Given the description of an element on the screen output the (x, y) to click on. 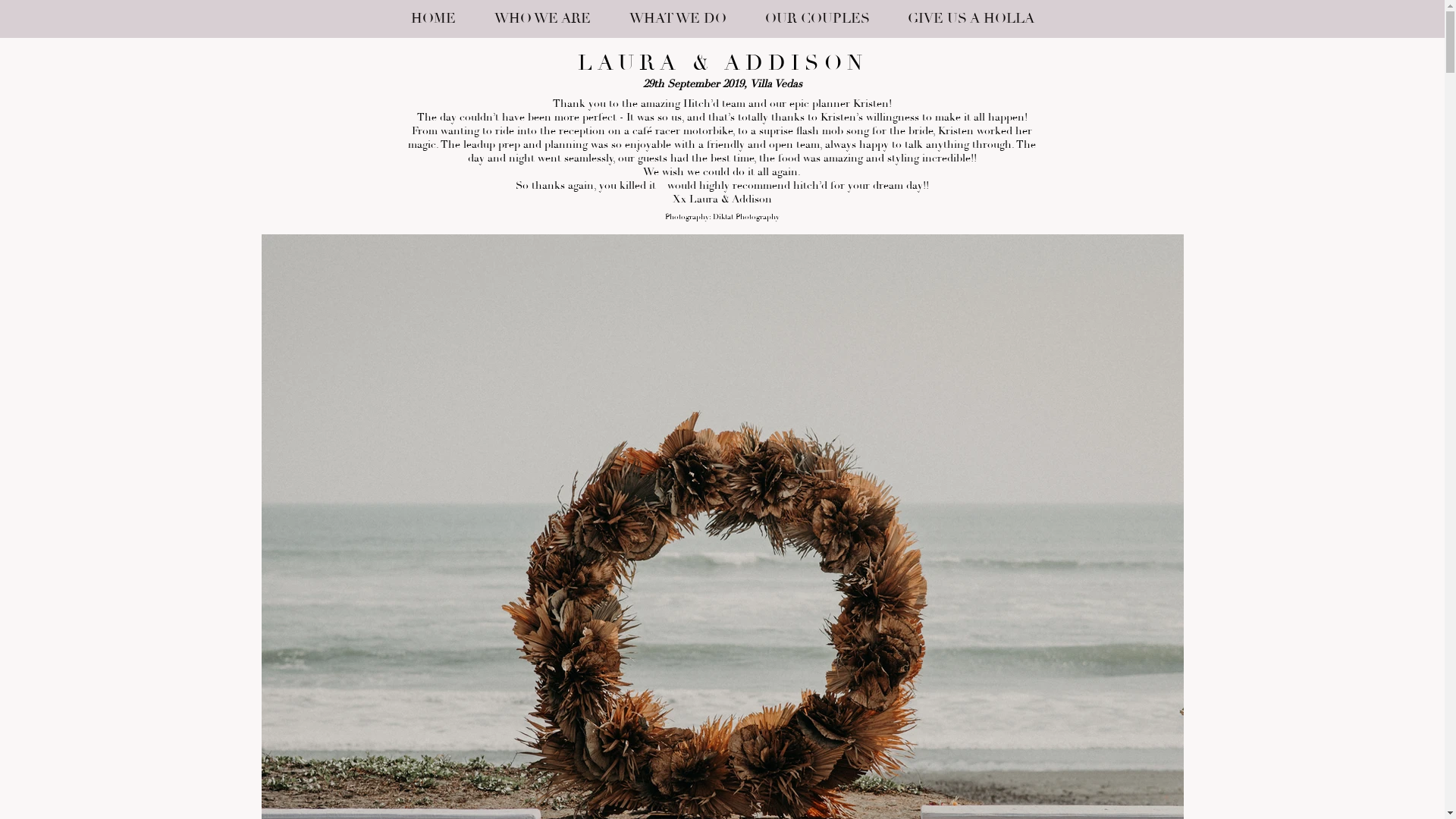
HOME Element type: text (432, 18)
GIVE US A HOLLA Element type: text (970, 18)
WHAT WE DO Element type: text (677, 18)
OUR COUPLES Element type: text (817, 18)
WHO WE ARE Element type: text (541, 18)
